Given the description of an element on the screen output the (x, y) to click on. 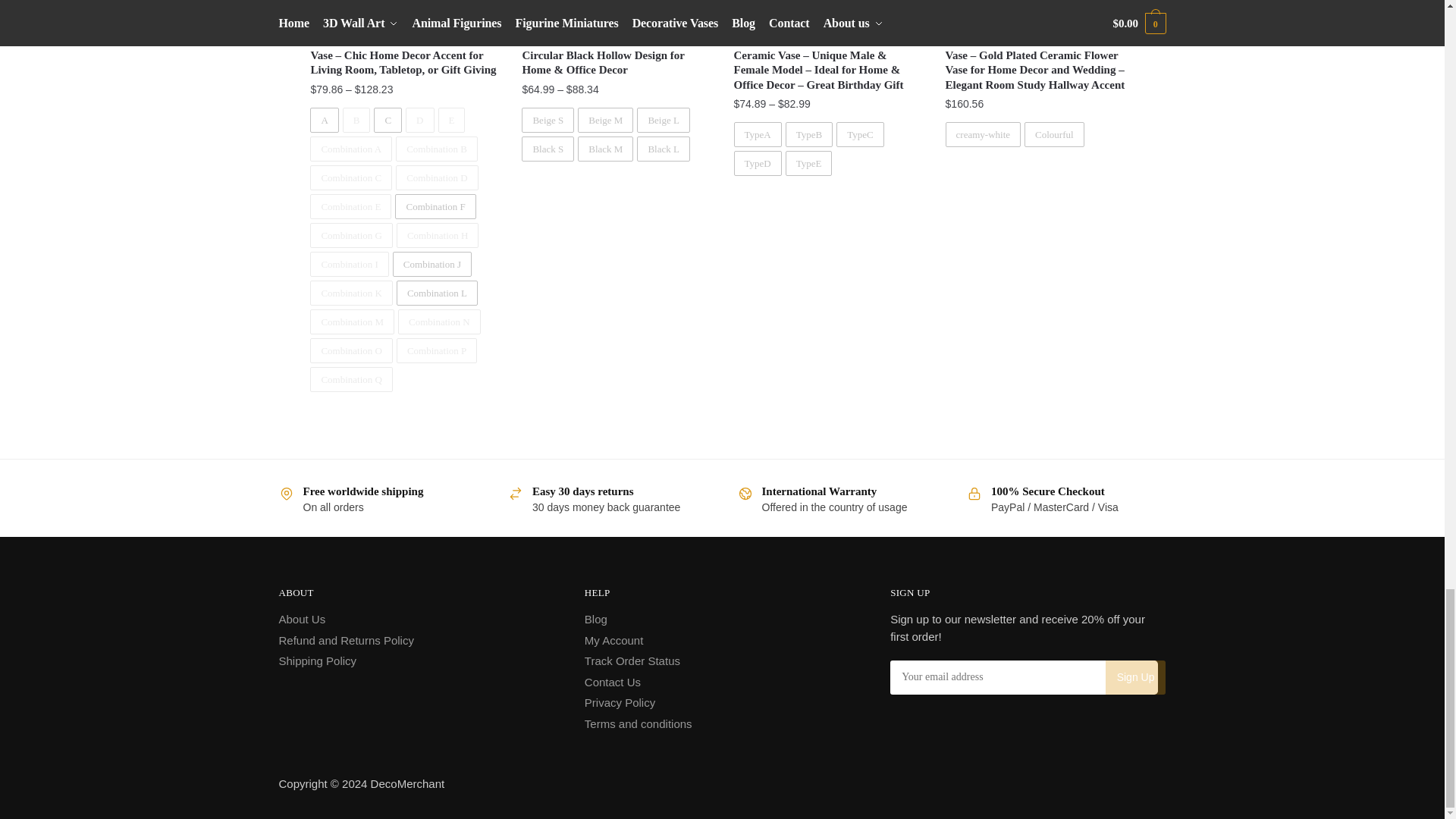
Sign up (1135, 677)
